Given the description of an element on the screen output the (x, y) to click on. 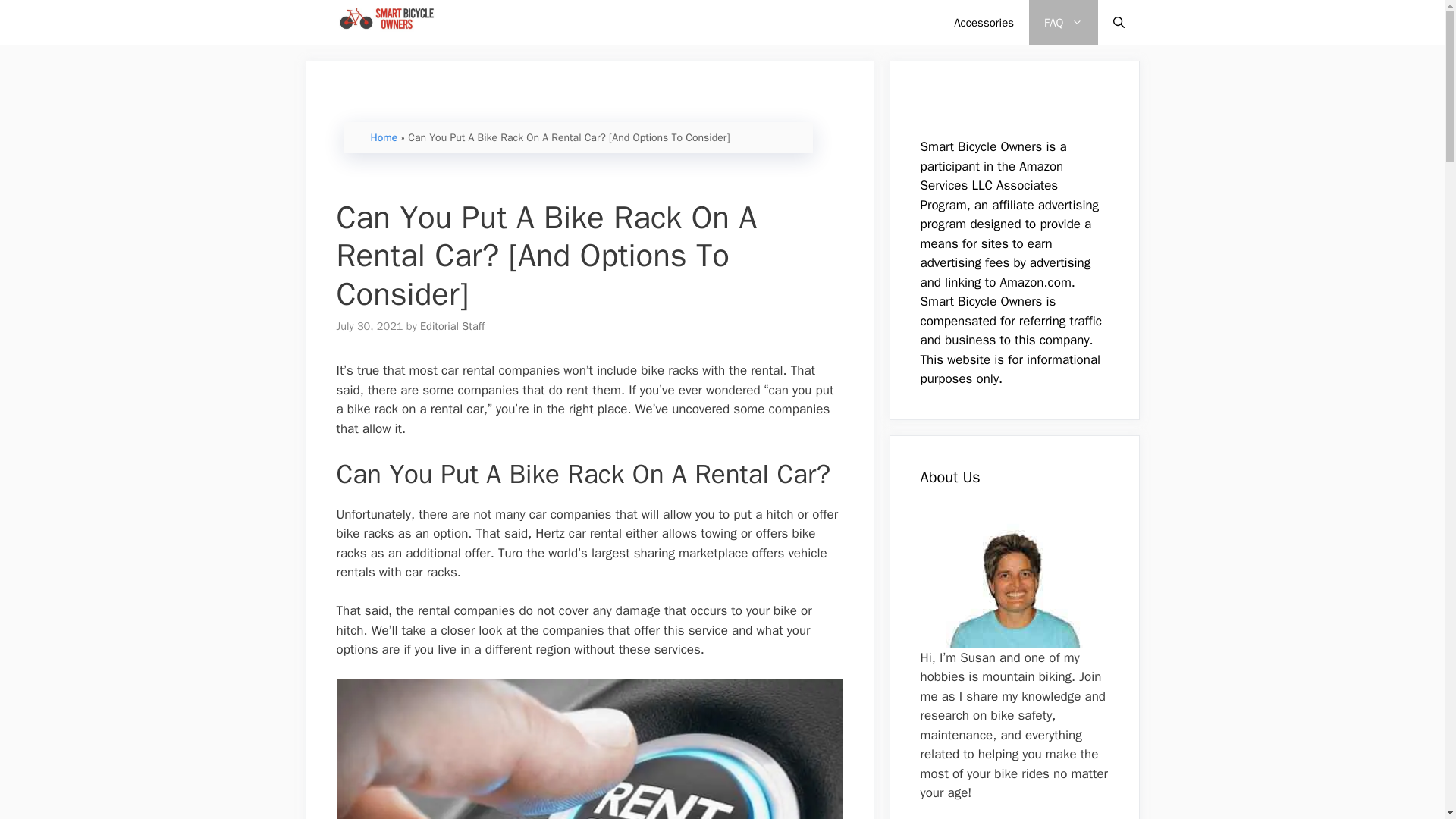
smartbicycleowners.com (380, 22)
View all posts by Editorial Staff (452, 325)
Accessories (984, 22)
smartbicycleowners.com (384, 22)
Editorial Staff (452, 325)
FAQ (1063, 22)
Home (383, 137)
